Given the description of an element on the screen output the (x, y) to click on. 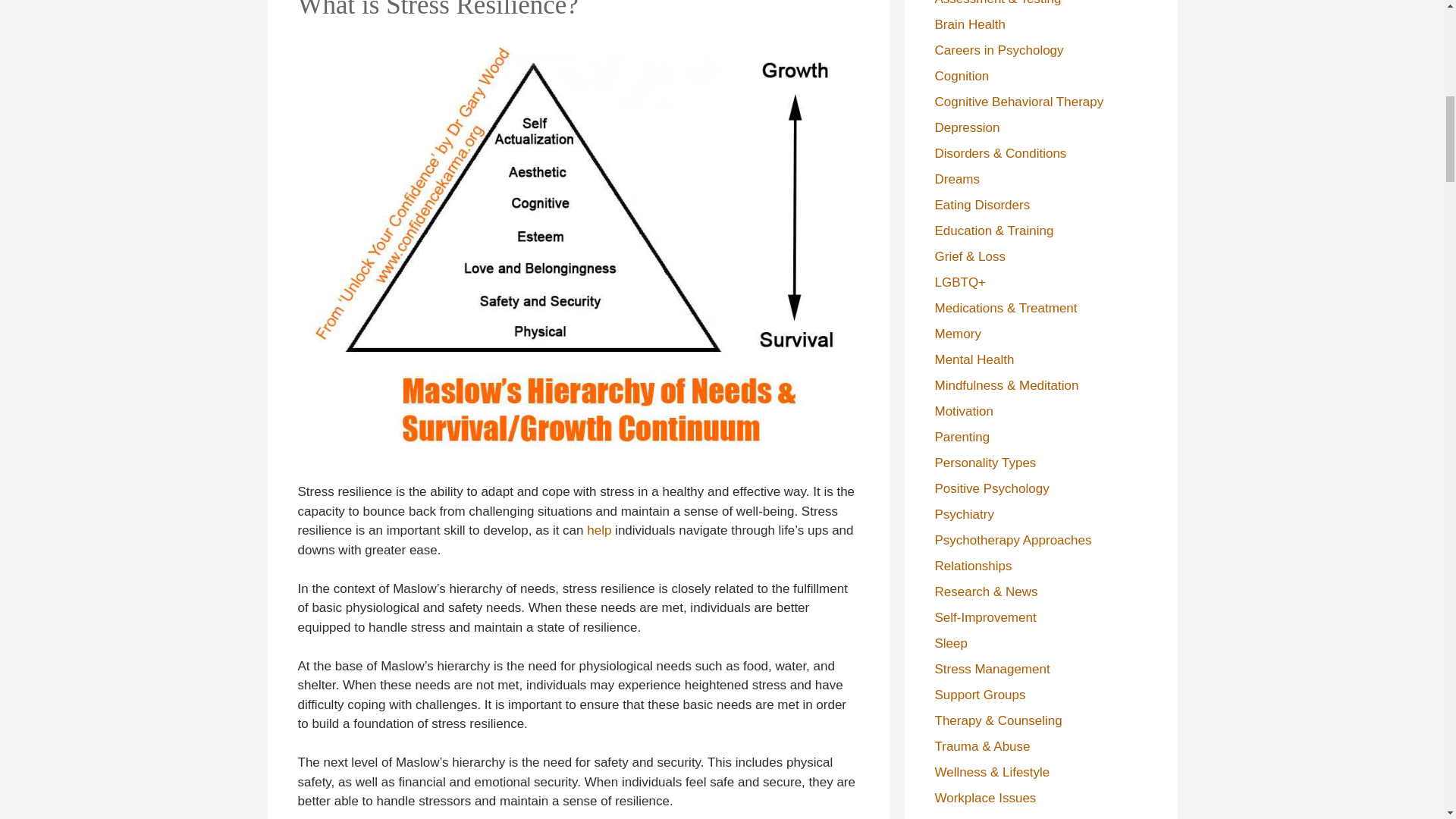
Brain Health (970, 23)
Cognition (961, 74)
Careers in Psychology (998, 49)
Cognitive Behavioral Therapy (1018, 101)
Eating Disorders (981, 204)
Depression (966, 126)
help (598, 530)
Dreams (956, 178)
